Given the description of an element on the screen output the (x, y) to click on. 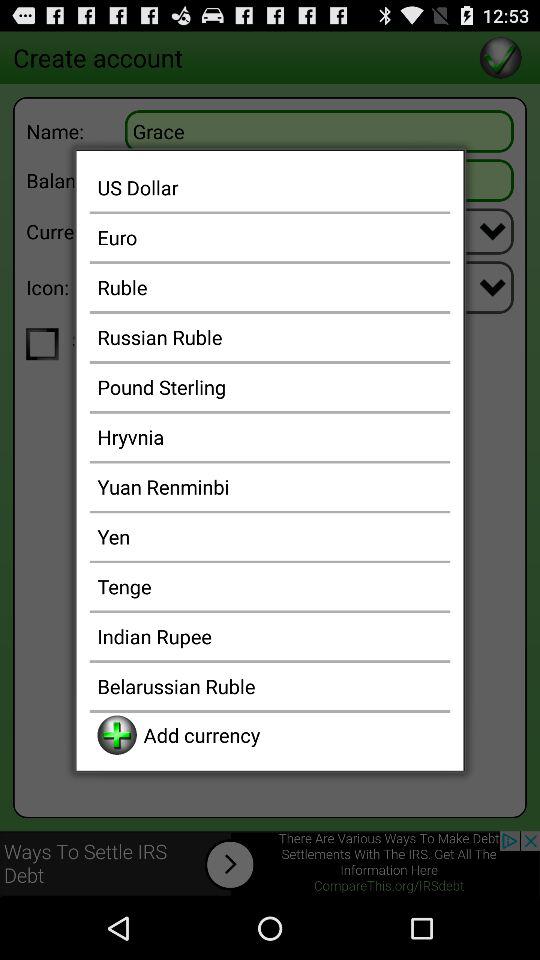
swipe until the add currency app (292, 734)
